Given the description of an element on the screen output the (x, y) to click on. 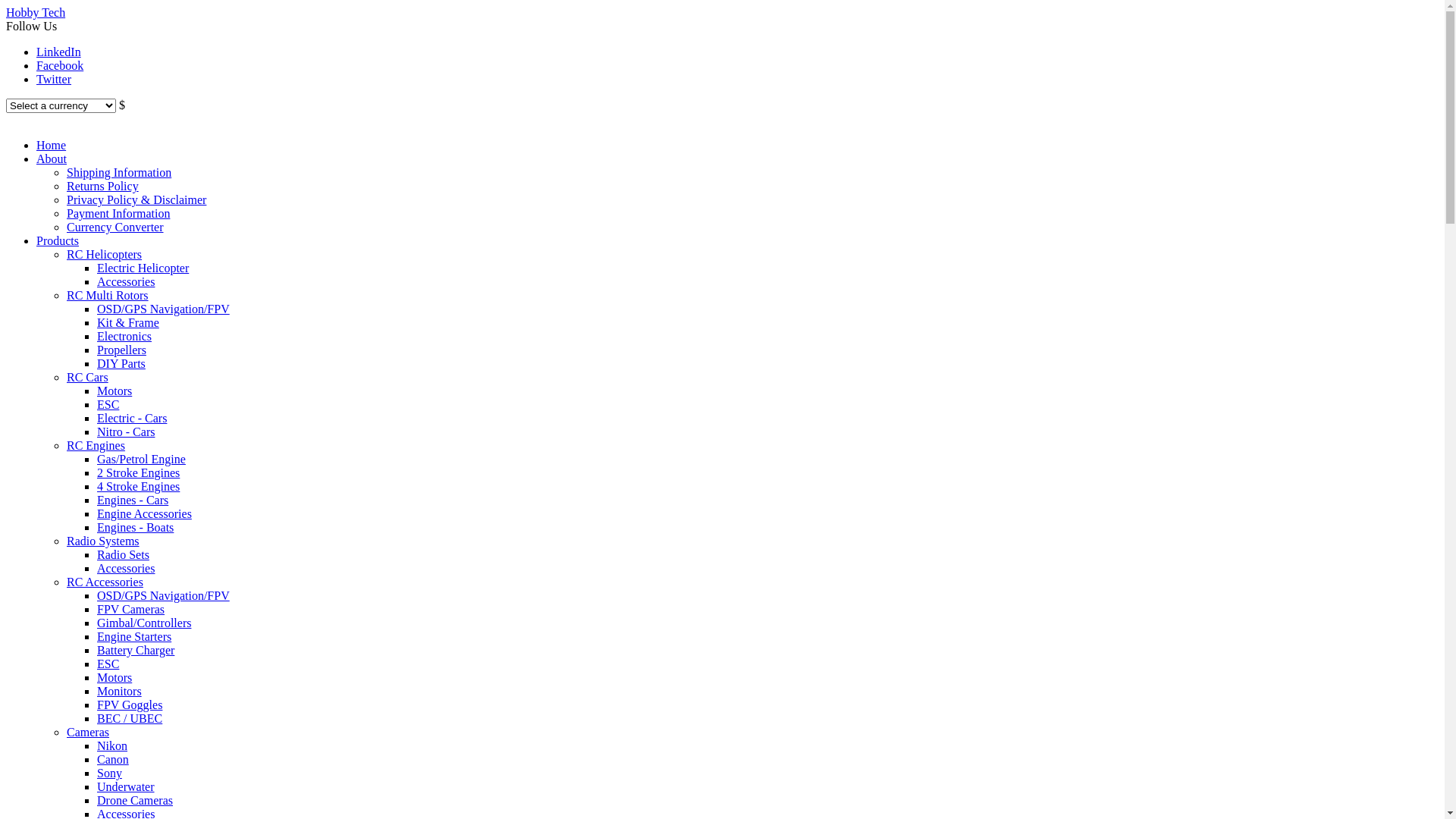
Engine Starters Element type: text (134, 636)
Radio Systems Element type: text (102, 540)
Engines - Boats Element type: text (135, 526)
RC Engines Element type: text (95, 445)
Nikon Element type: text (112, 745)
Home Element type: text (50, 144)
Payment Information Element type: text (117, 213)
RC Multi Rotors Element type: text (107, 294)
FPV Cameras Element type: text (130, 608)
Products Element type: text (57, 240)
Nitro - Cars Element type: text (125, 431)
DIY Parts Element type: text (121, 363)
Engines - Cars Element type: text (132, 499)
Accessories Element type: text (125, 281)
Accessories Element type: text (125, 567)
Monitors Element type: text (119, 690)
Propellers Element type: text (121, 349)
Twitter Element type: text (53, 78)
Engine Accessories Element type: text (144, 513)
ESC Element type: text (108, 663)
RC Cars Element type: text (87, 376)
Gas/Petrol Engine Element type: text (141, 458)
2 Stroke Engines Element type: text (138, 472)
Cameras Element type: text (87, 731)
Shipping Information Element type: text (118, 172)
4 Stroke Engines Element type: text (138, 486)
LinkedIn Element type: text (58, 51)
Currency Converter Element type: text (114, 226)
Drone Cameras Element type: text (134, 799)
Gimbal/Controllers Element type: text (144, 622)
Returns Policy Element type: text (102, 185)
Electronics Element type: text (124, 335)
About Element type: text (51, 158)
Battery Charger Element type: text (135, 649)
RC Accessories Element type: text (104, 581)
Electric Helicopter Element type: text (142, 267)
Privacy Policy & Disclaimer Element type: text (136, 199)
RC Helicopters Element type: text (103, 253)
Kit & Frame Element type: text (128, 322)
Canon Element type: text (112, 759)
Sony Element type: text (109, 772)
OSD/GPS Navigation/FPV Element type: text (163, 595)
OSD/GPS Navigation/FPV Element type: text (163, 308)
BEC / UBEC Element type: text (129, 718)
Hobby Tech Element type: text (35, 12)
Electric - Cars Element type: text (131, 417)
FPV Goggles Element type: text (129, 704)
Radio Sets Element type: text (123, 554)
ESC Element type: text (108, 404)
Motors Element type: text (114, 390)
Motors Element type: text (114, 677)
Facebook Element type: text (59, 65)
Underwater Element type: text (125, 786)
